Given the description of an element on the screen output the (x, y) to click on. 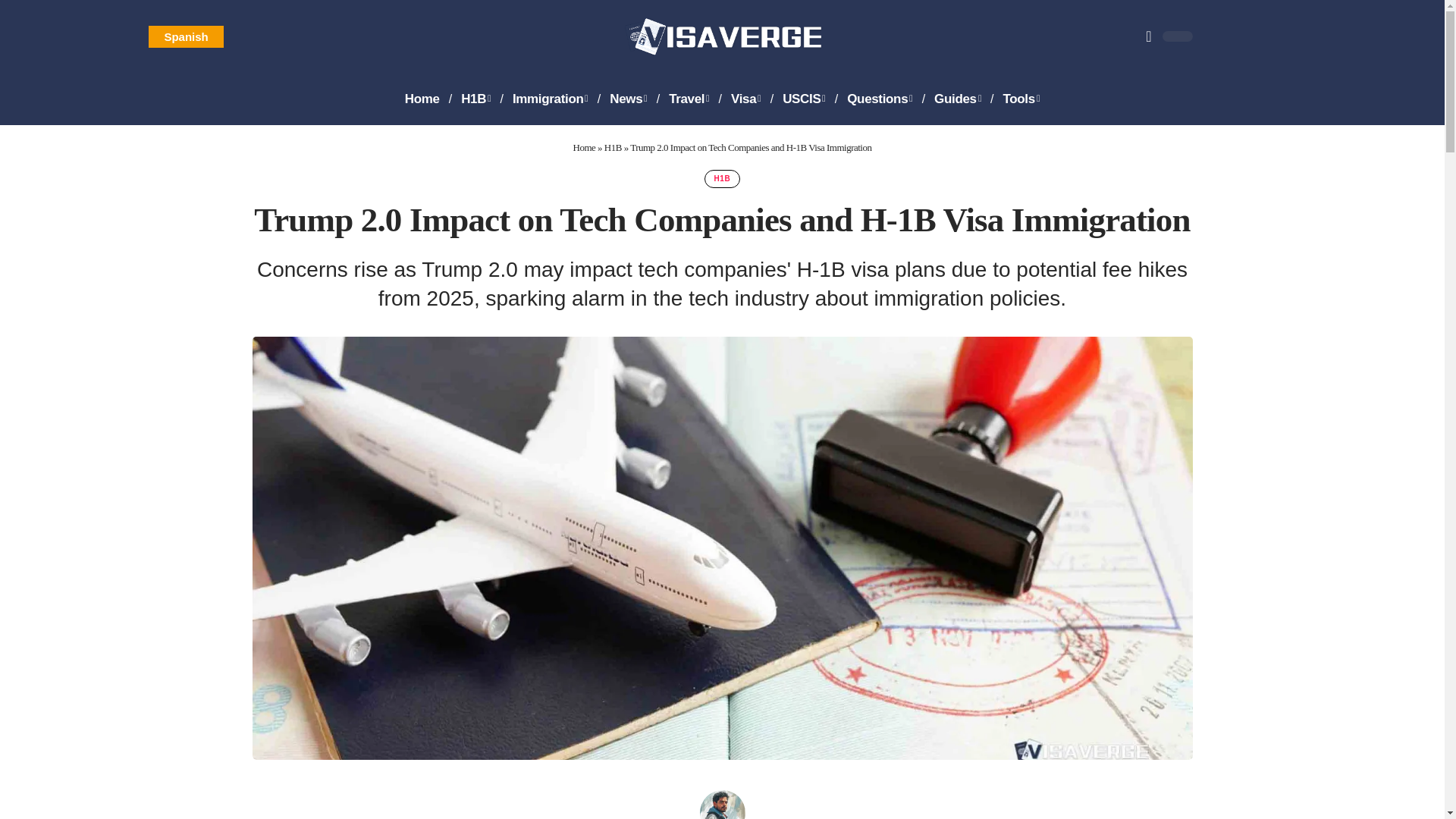
Home (422, 99)
Travel (688, 99)
News (627, 99)
Immigration (549, 99)
Spanish (185, 36)
H1B (475, 99)
Visa (746, 99)
